Given the description of an element on the screen output the (x, y) to click on. 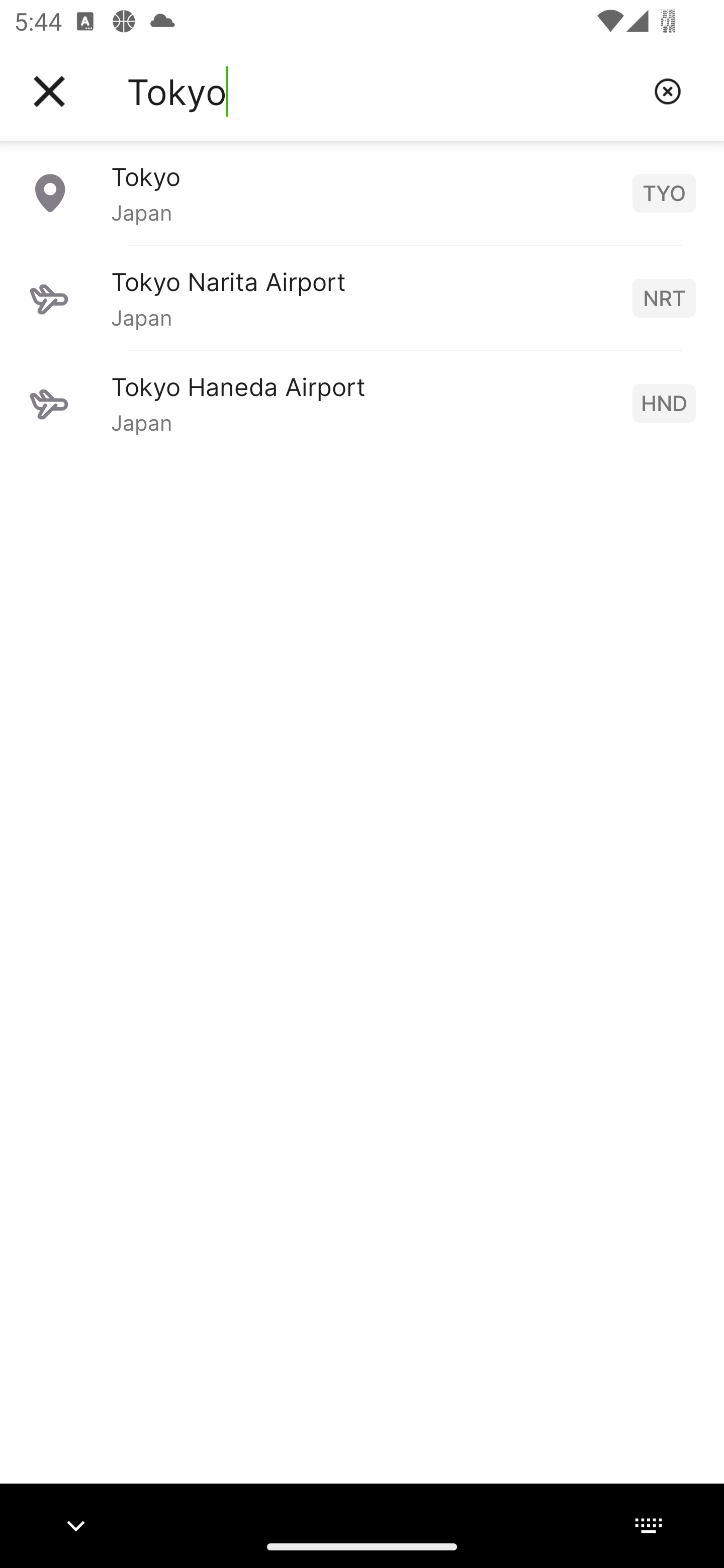
Tokyo (382, 91)
Tokyo Japan TYO (362, 192)
Tokyo Narita Airport Japan NRT (362, 297)
Tokyo Haneda Airport Japan HND (362, 402)
